Given the description of an element on the screen output the (x, y) to click on. 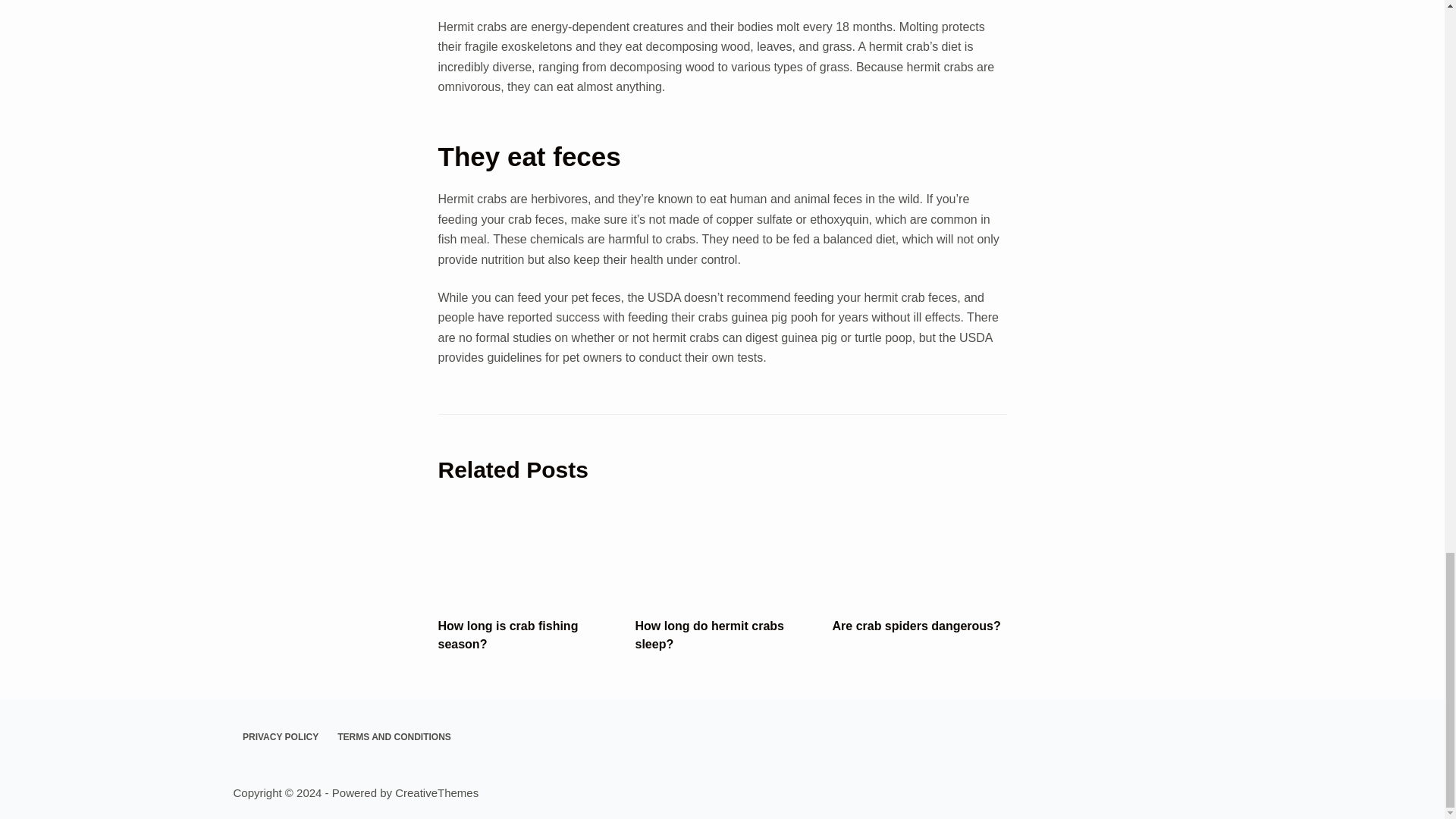
Are crab spiders dangerous? (916, 625)
PRIVACY POLICY (280, 737)
How long is crab fishing season? (508, 634)
How long do hermit crabs sleep? (709, 634)
TERMS AND CONDITIONS (395, 737)
